Given the description of an element on the screen output the (x, y) to click on. 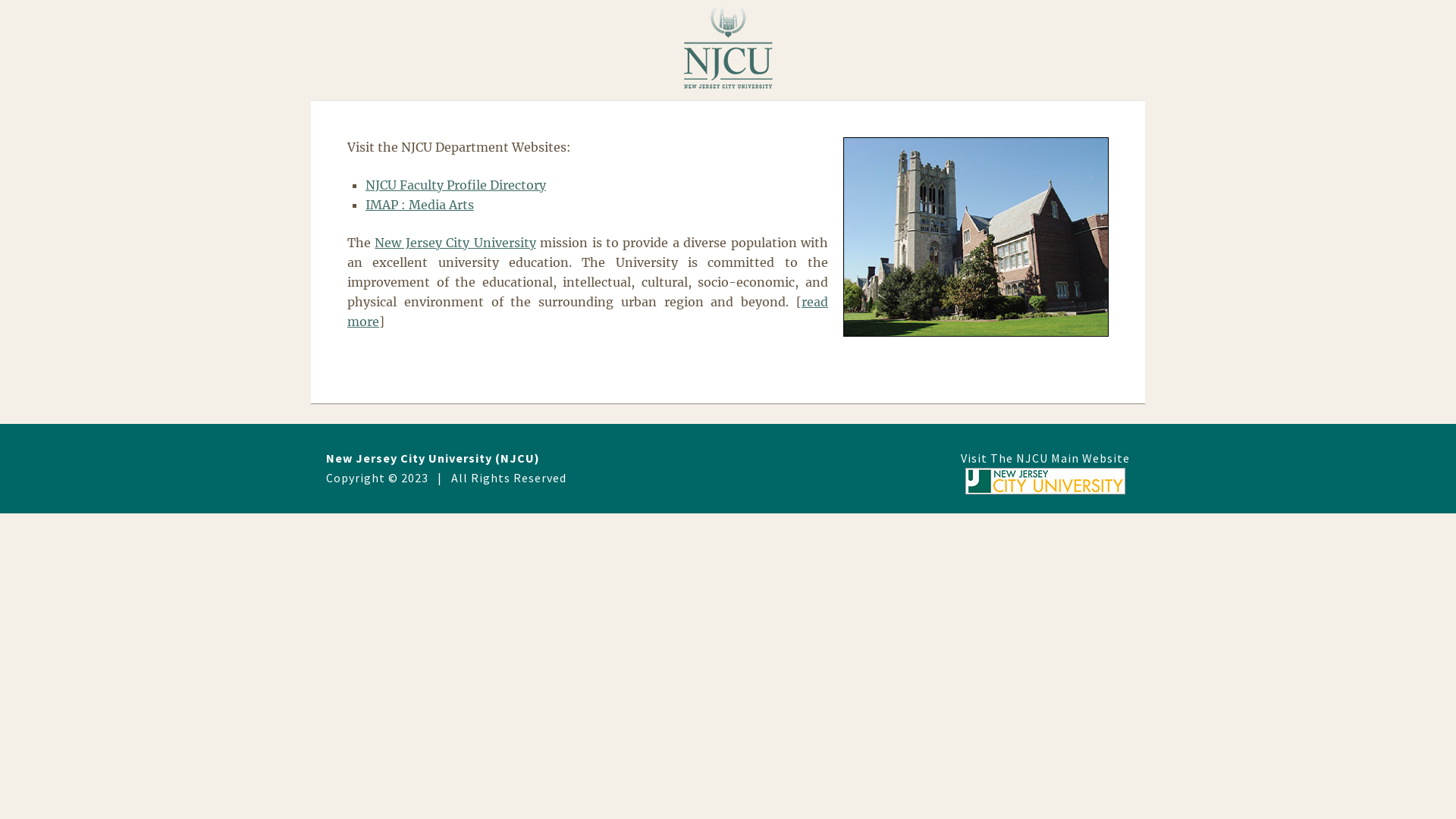
NJCU is committed to excellence in education! Element type: hover (975, 236)
IMAP : Media Arts Element type: text (419, 204)
New Jersey City University ... worth attending! Element type: hover (727, 47)
New Jersey City University Element type: text (454, 242)
NJCU Faculty Profile Directory Element type: text (455, 184)
read more Element type: text (587, 311)
Visit The NJCU Main Website Element type: text (1044, 473)
